Given the description of an element on the screen output the (x, y) to click on. 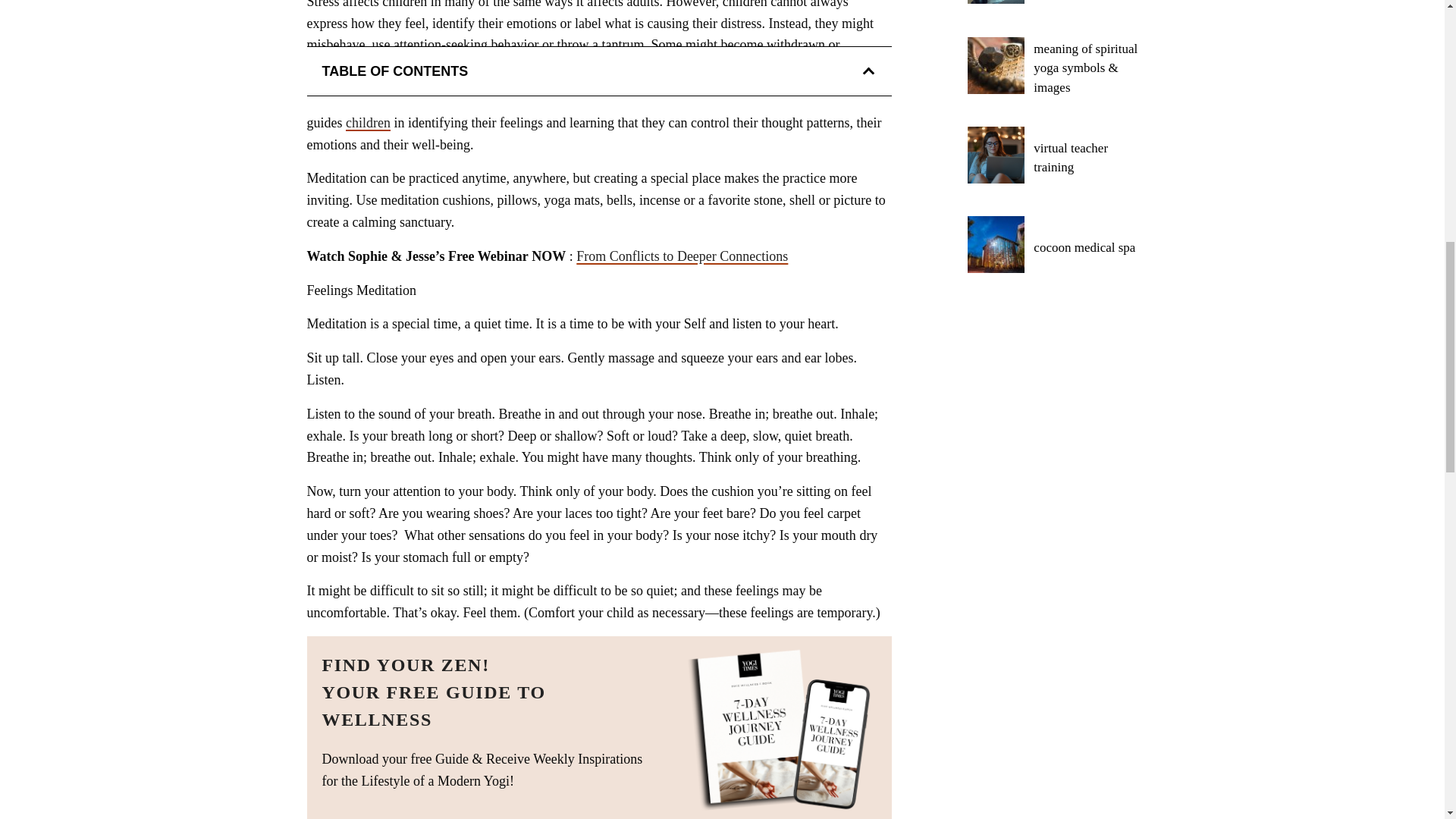
Scroll back to top (1406, 652)
